Given the description of an element on the screen output the (x, y) to click on. 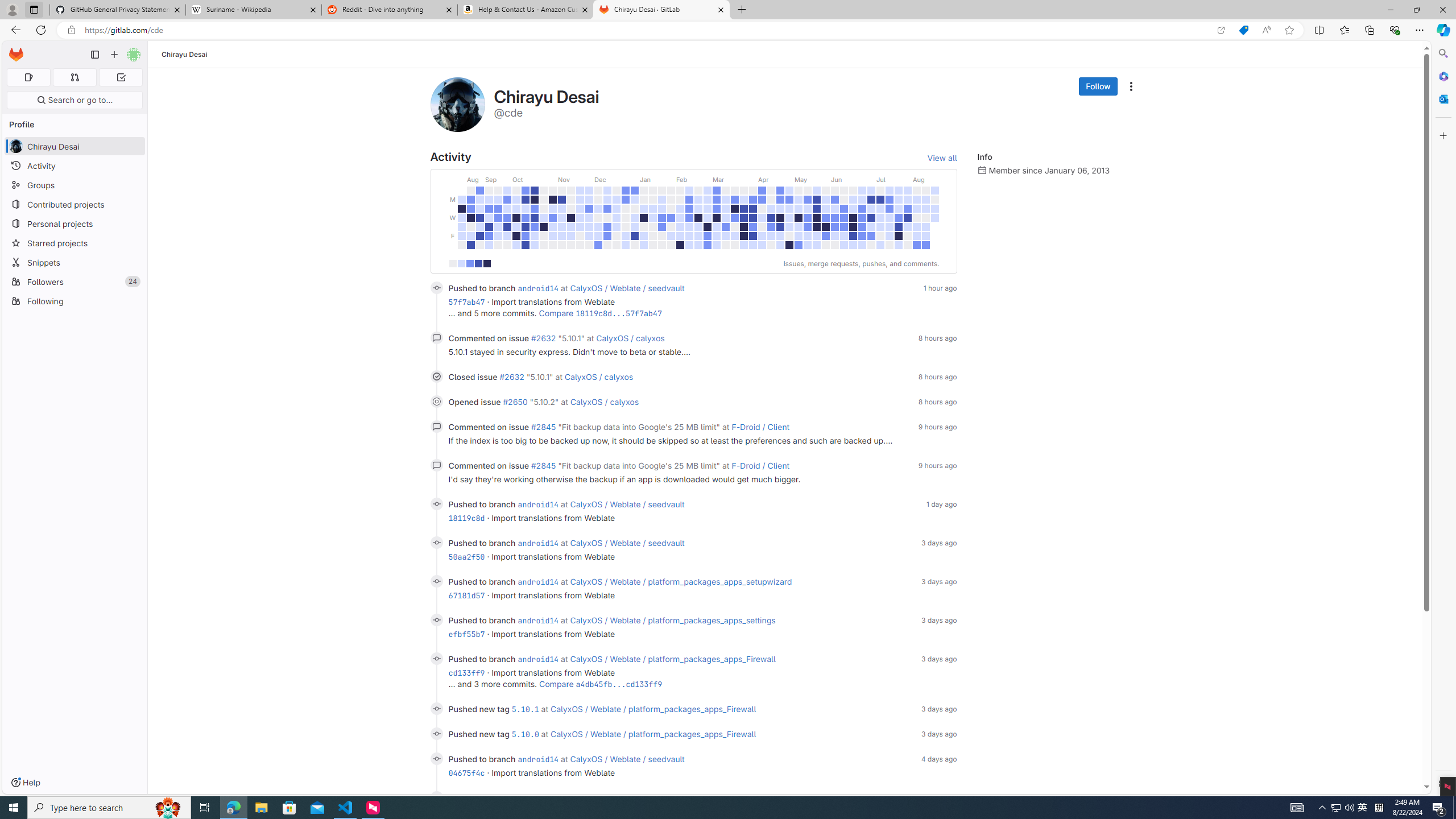
Create new... (113, 54)
GitHub General Privacy Statement - GitHub Docs (117, 9)
